Given the description of an element on the screen output the (x, y) to click on. 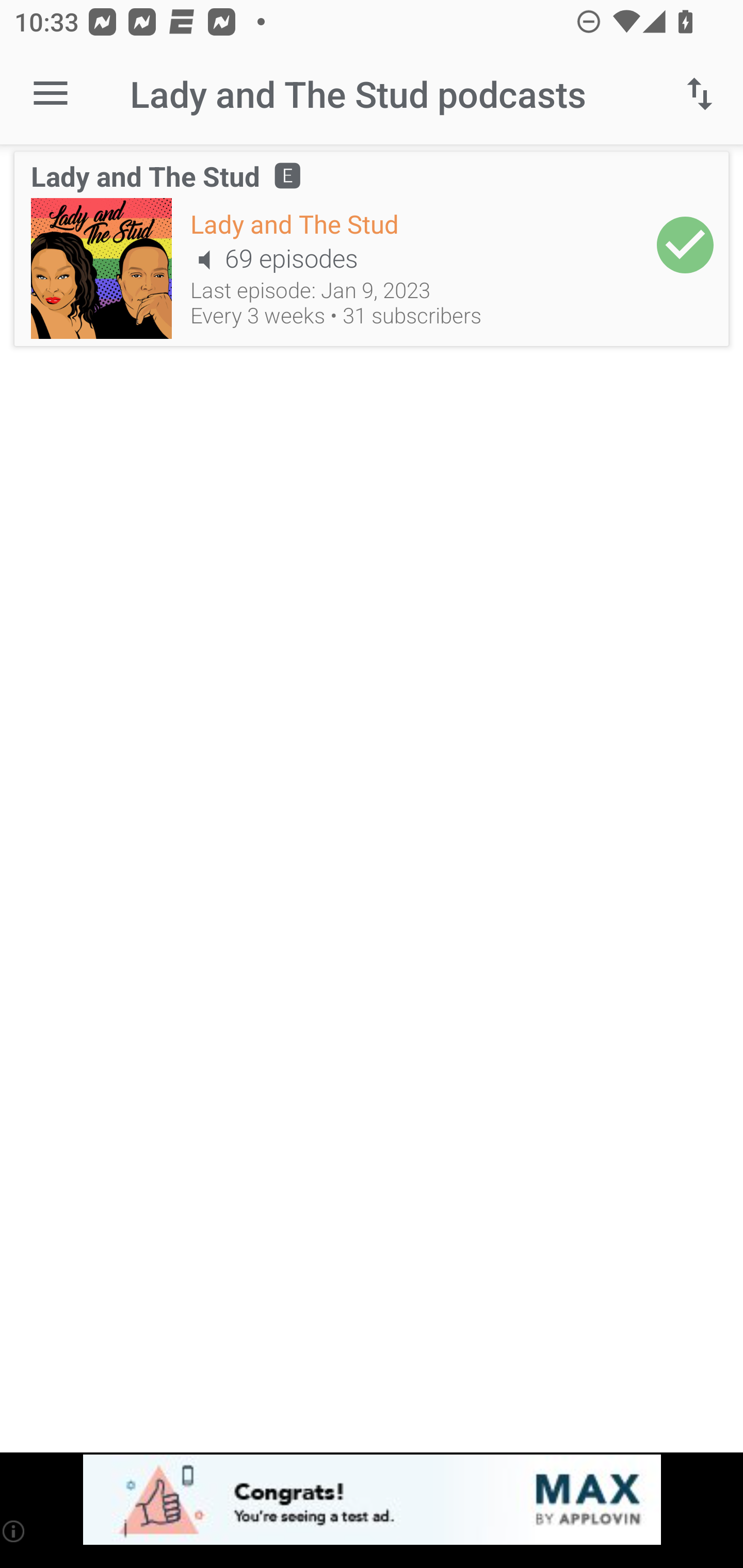
Open navigation sidebar (50, 93)
Sort (699, 93)
Add (684, 245)
app-monetization (371, 1500)
(i) (14, 1531)
